Given the description of an element on the screen output the (x, y) to click on. 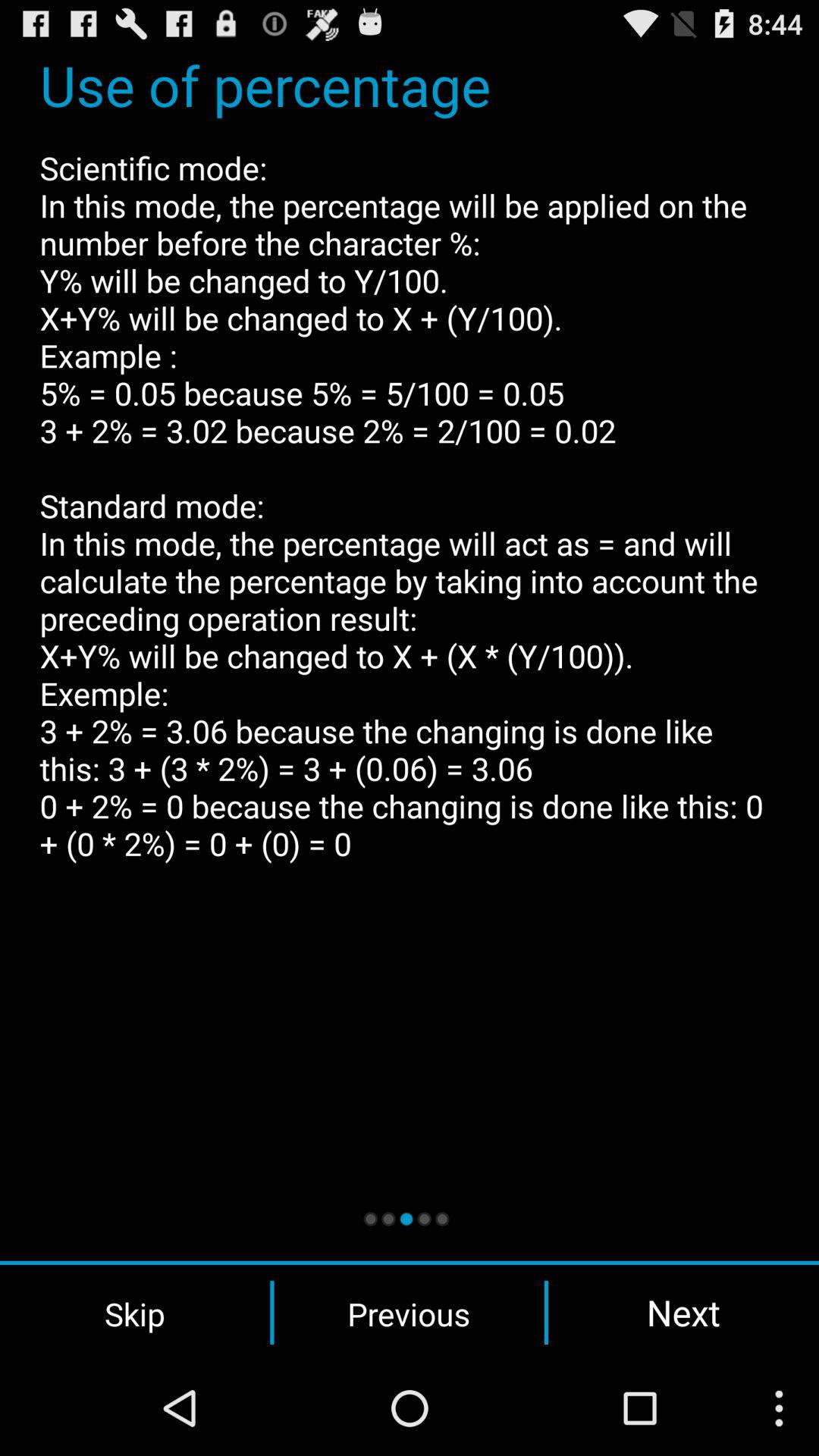
open previous button (409, 1313)
